Given the description of an element on the screen output the (x, y) to click on. 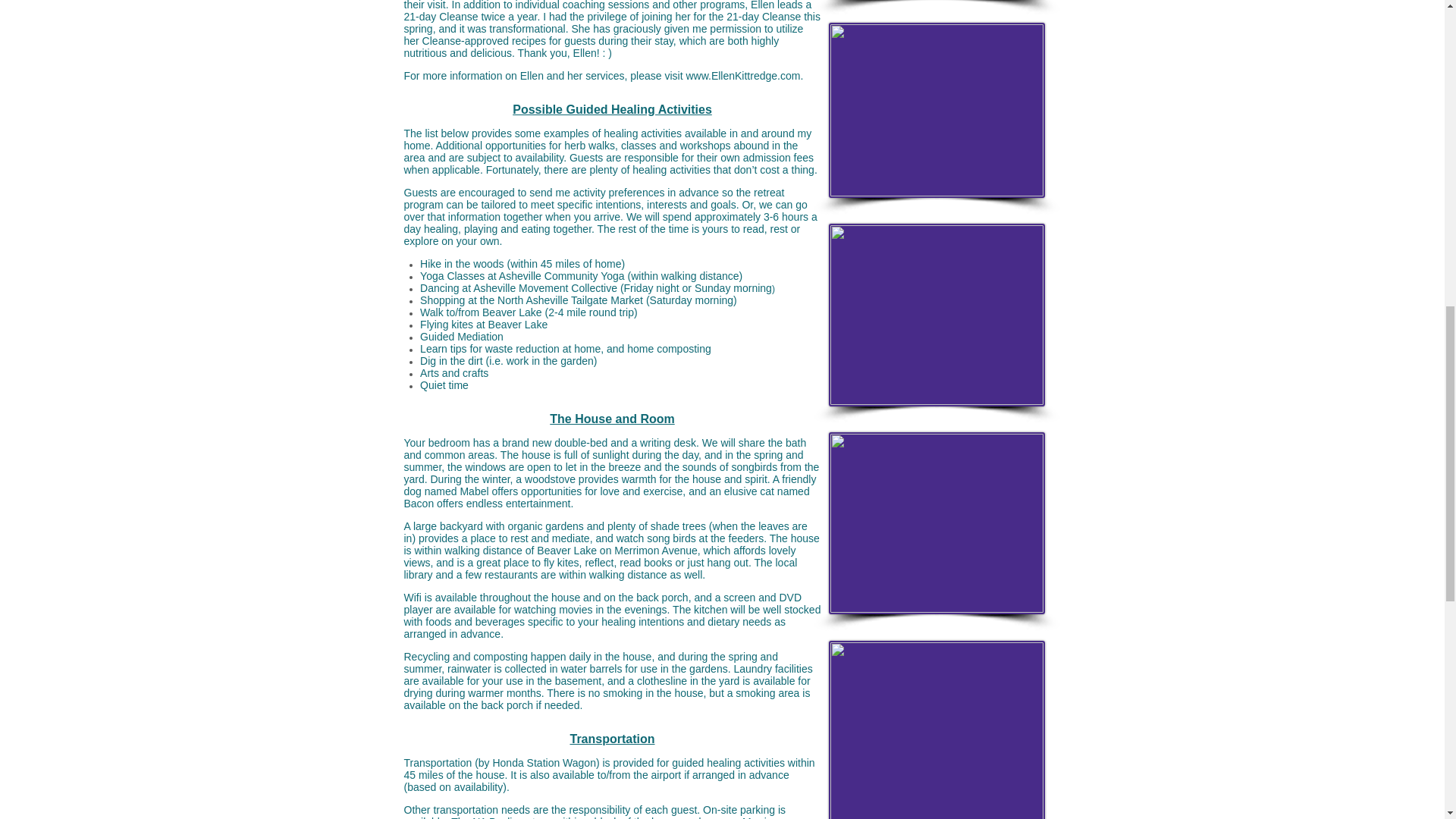
House and Gardens 111.jpg (935, 729)
AMC homepage.PNG (935, 523)
www.EllenKittredge.com (742, 75)
